Given the description of an element on the screen output the (x, y) to click on. 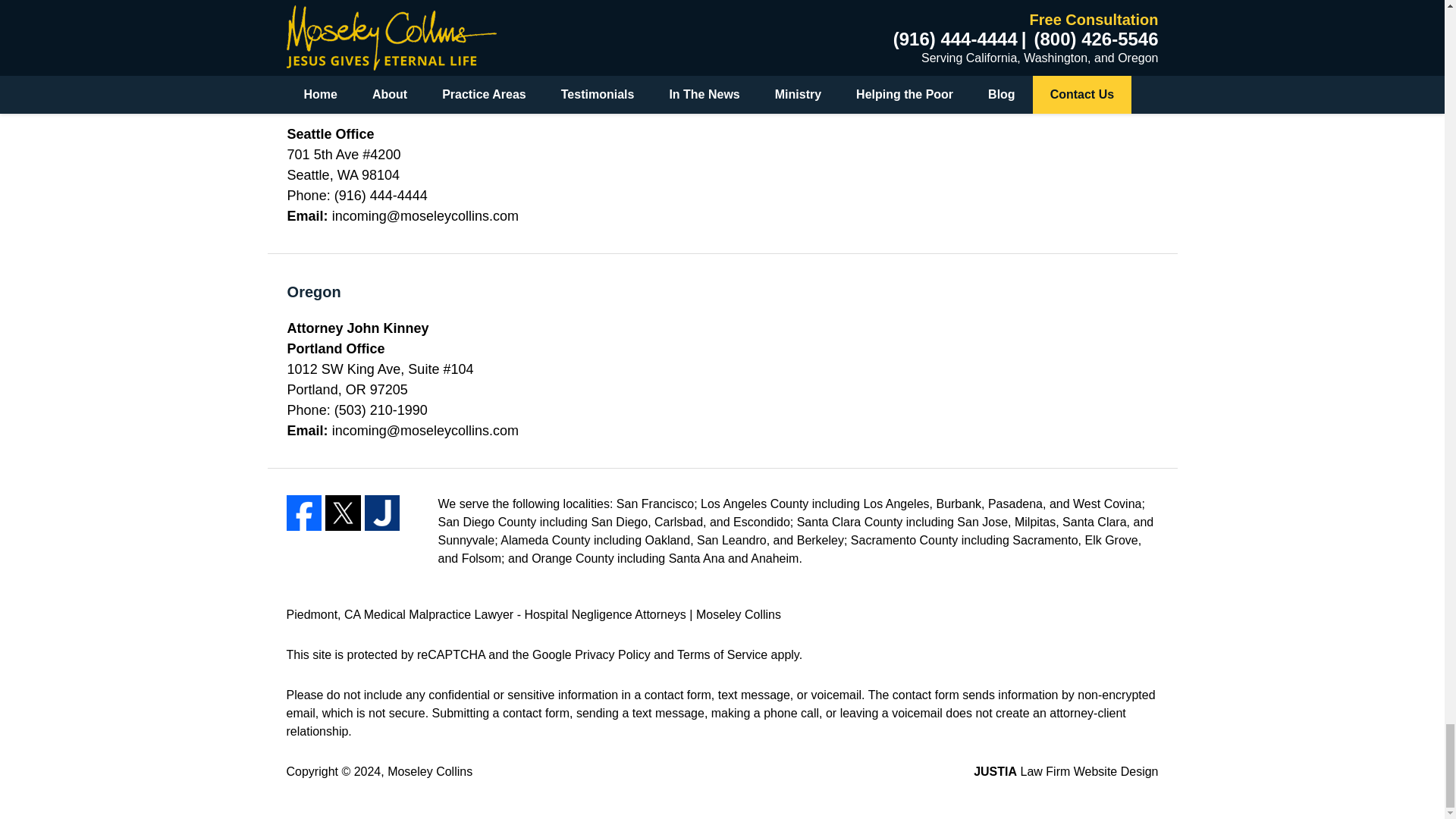
Justia (382, 512)
Twitter (342, 512)
Facebook (303, 512)
